Given the description of an element on the screen output the (x, y) to click on. 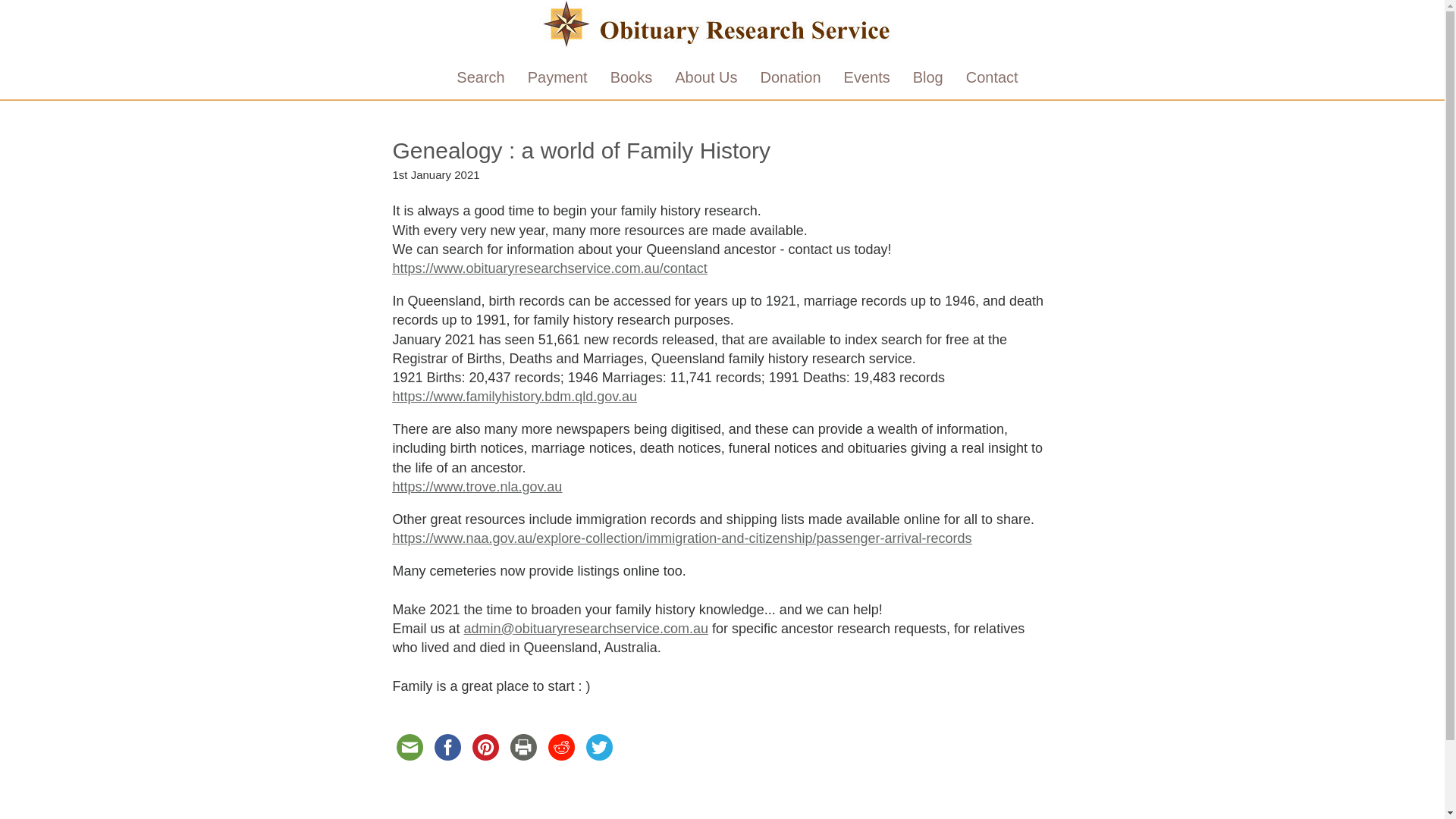
https://www.obituaryresearchservice.com.au/contact Element type: text (549, 268)
Contact Element type: text (991, 77)
Books Element type: text (631, 77)
Blog Element type: text (927, 77)
Events Element type: text (866, 77)
Payment Element type: text (557, 77)
https://www.familyhistory.bdm.qld.gov.au Element type: text (514, 396)
admin@obituaryresearchservice.com.au Element type: text (586, 628)
About Us Element type: text (705, 77)
Search Element type: text (480, 77)
https://www.trove.nla.gov.au Element type: text (477, 486)
Donation Element type: text (789, 77)
